Given the description of an element on the screen output the (x, y) to click on. 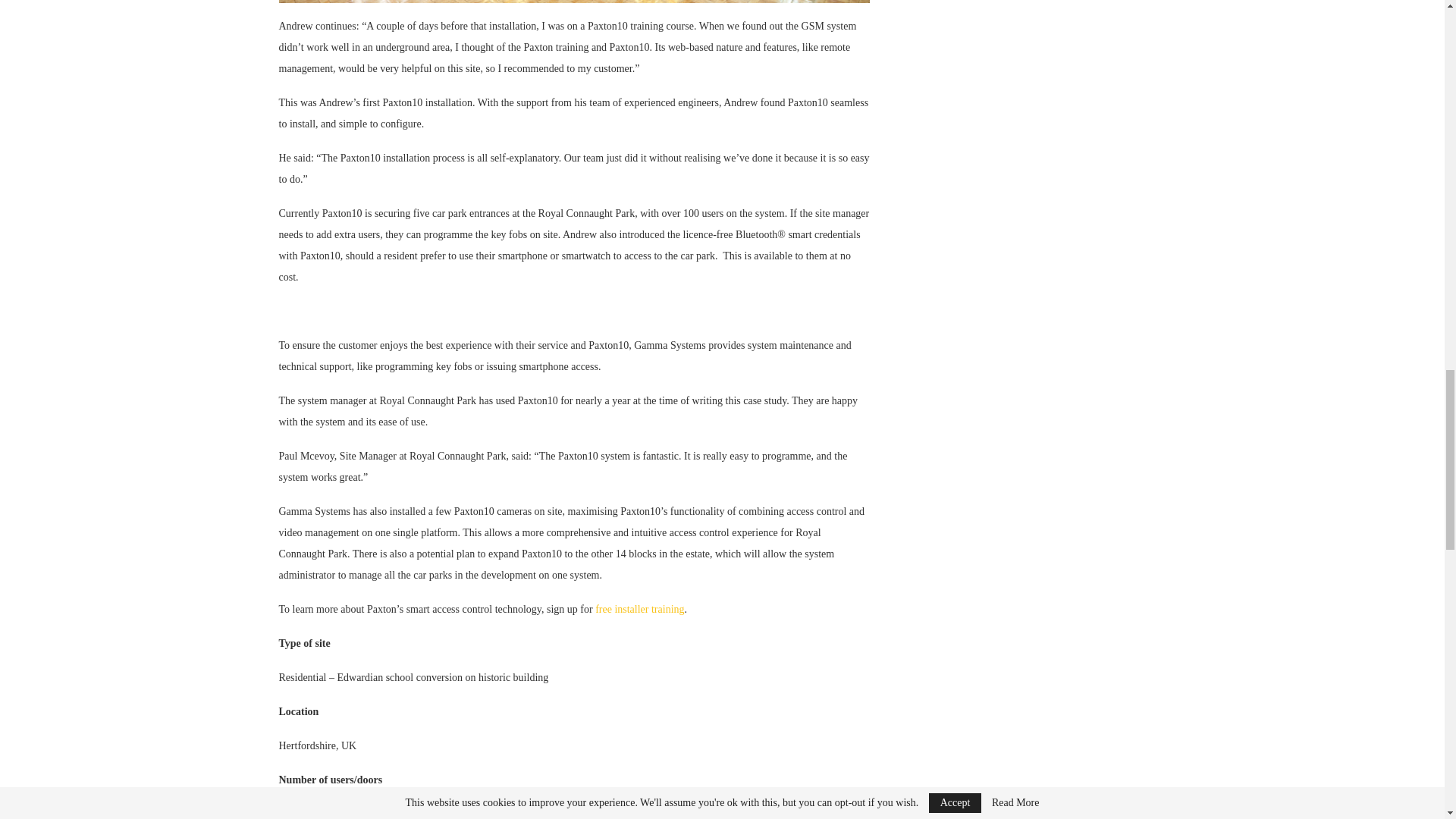
free installer training (639, 609)
